Given the description of an element on the screen output the (x, y) to click on. 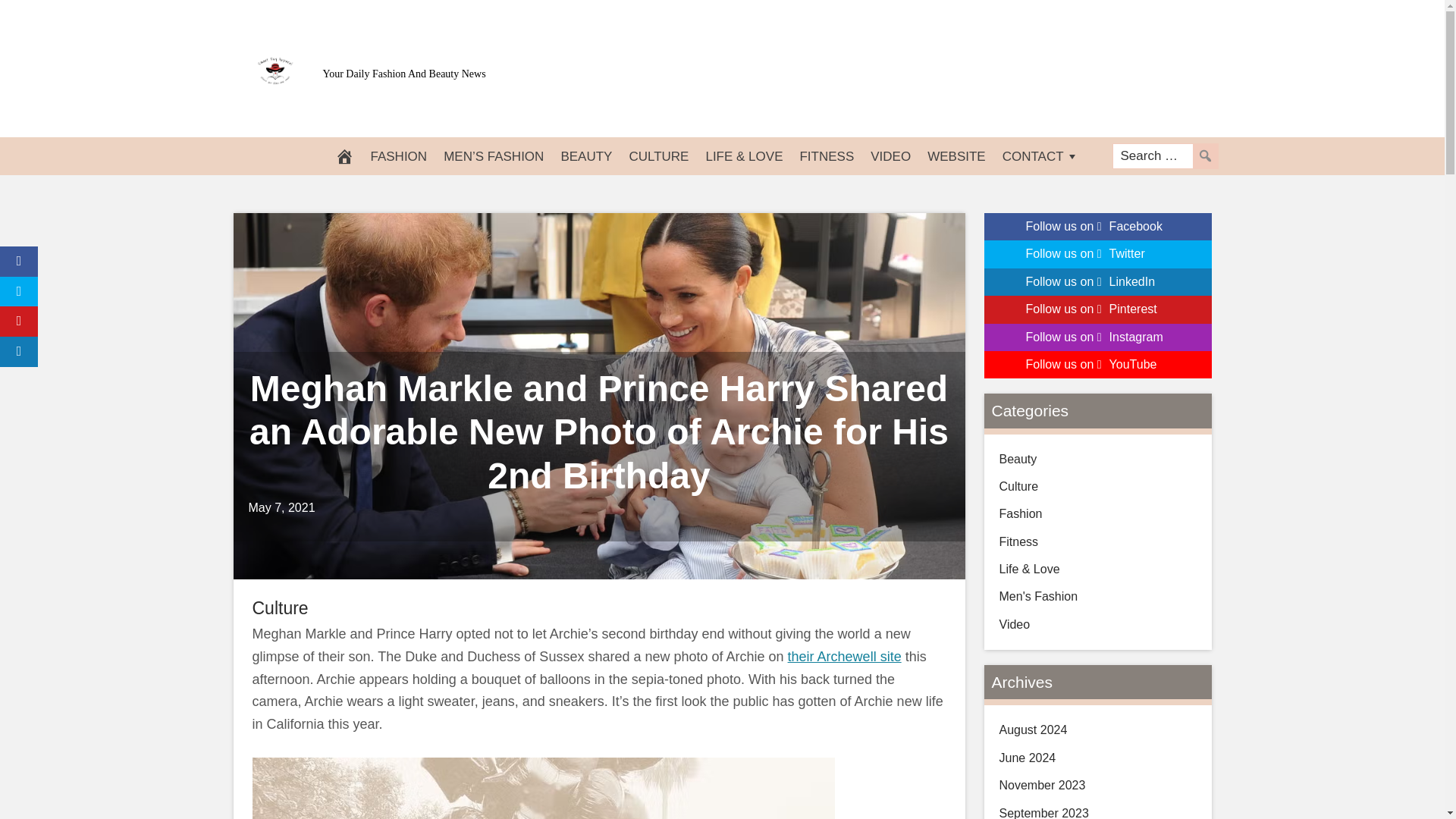
Archie in his new birthday photo (542, 788)
BEAUTY (585, 156)
CULTURE (658, 156)
VIDEO (889, 156)
FASHION (398, 156)
Culture (279, 608)
CONTACT (1040, 156)
WEBSITE (956, 156)
FITNESS (825, 156)
